Given the description of an element on the screen output the (x, y) to click on. 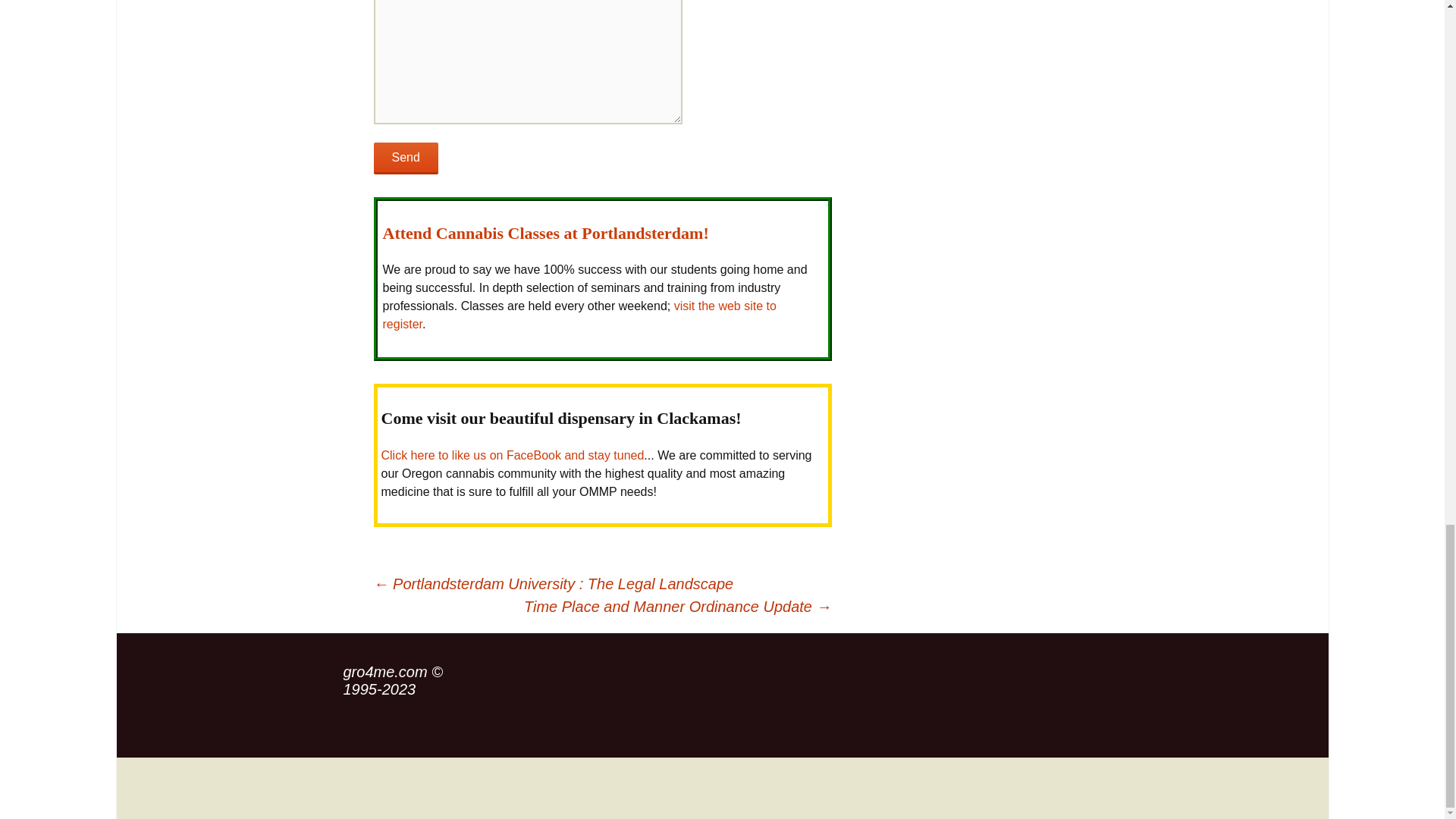
visit the web site to register (578, 314)
Attend Cannabis Classes at Portlandsterdam! (544, 232)
Send (405, 158)
Send (405, 158)
Click here to like us on FaceBook and stay tuned (511, 454)
